Given the description of an element on the screen output the (x, y) to click on. 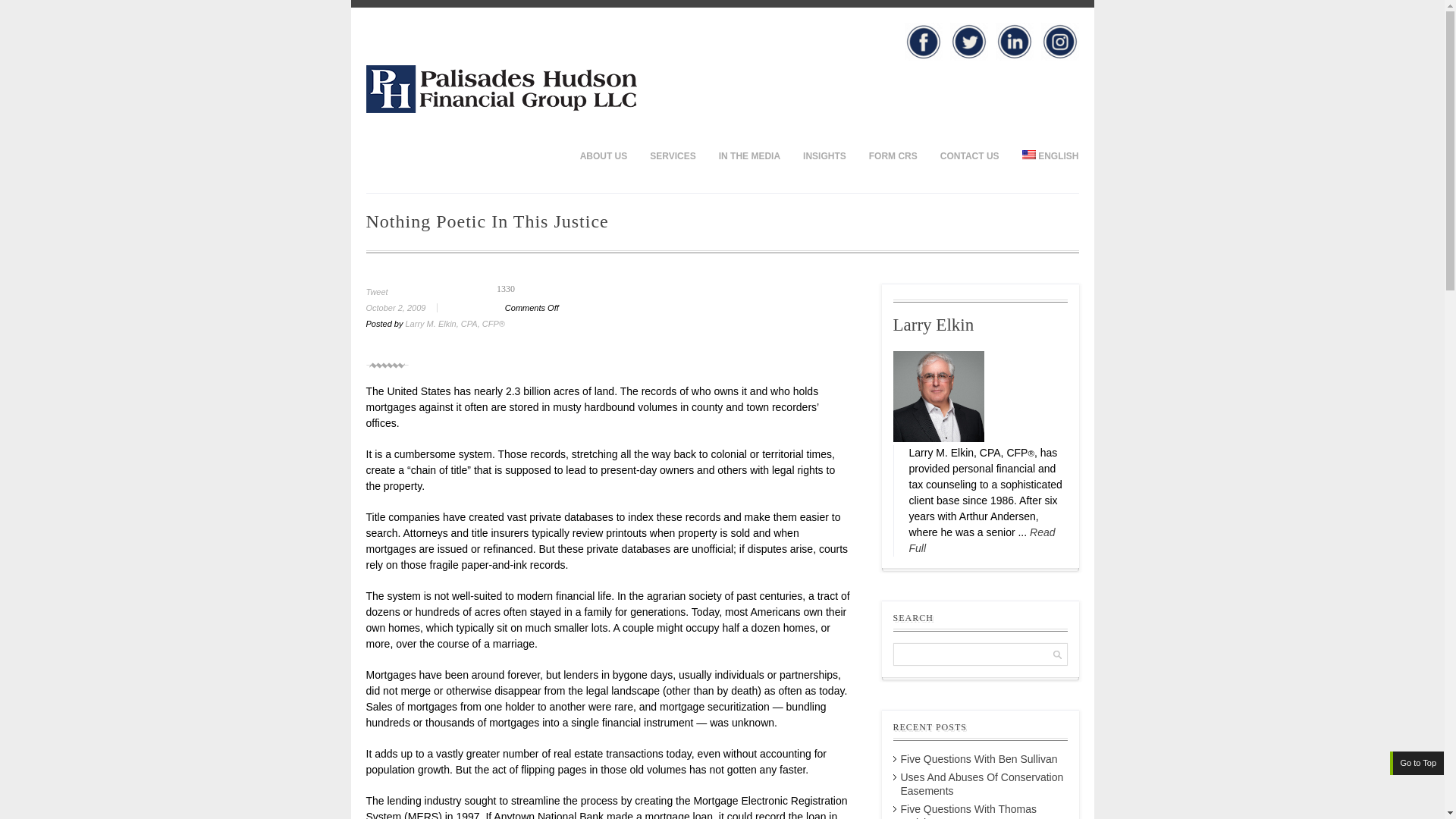
8:52 am (406, 307)
CONTACT US (969, 155)
INSIGHTS (824, 155)
Tweet (376, 291)
IN THE MEDIA (749, 155)
Facebook (923, 41)
ABOUT US (604, 155)
English (1044, 155)
SERVICES (672, 155)
Palisades Hudson Financial Group (500, 109)
English (1028, 153)
Twitter (968, 41)
Instagram (1059, 41)
ENGLISH (1044, 155)
FORM CRS (892, 155)
